Given the description of an element on the screen output the (x, y) to click on. 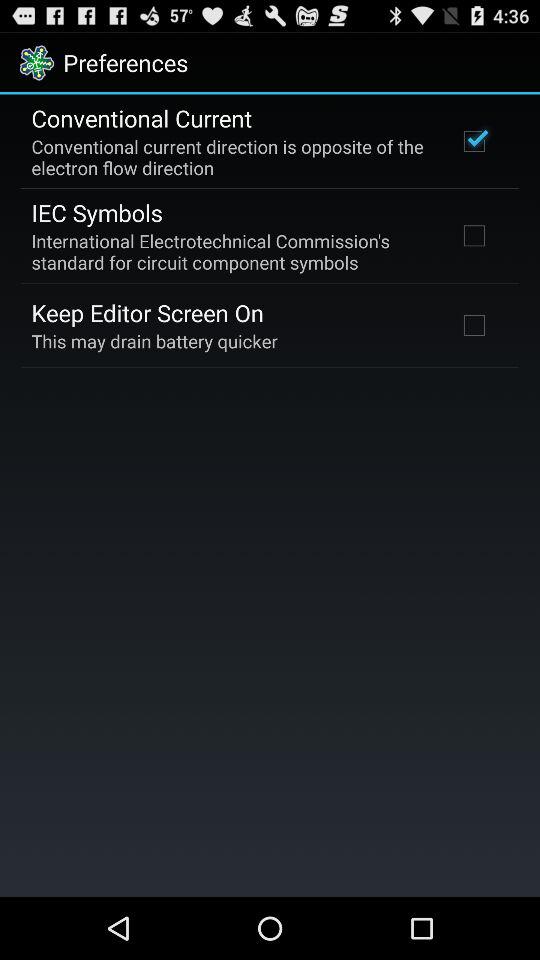
scroll until international electrotechnical commission item (231, 251)
